Given the description of an element on the screen output the (x, y) to click on. 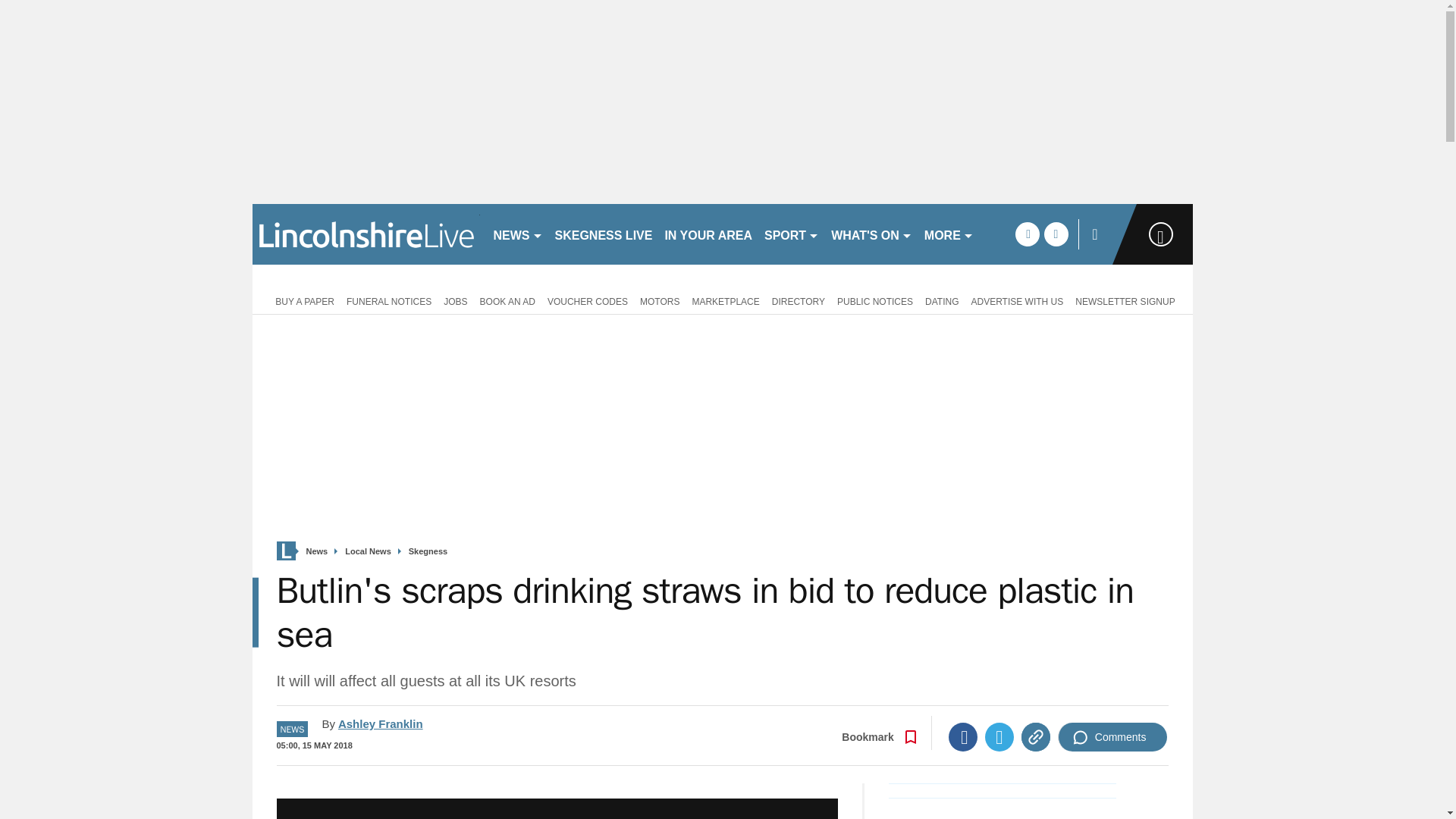
lincolnshirelive (365, 233)
NEWS (517, 233)
Twitter (999, 736)
BUY A PAPER (301, 300)
Facebook (962, 736)
SKEGNESS LIVE (603, 233)
facebook (1026, 233)
IN YOUR AREA (708, 233)
Comments (1112, 736)
WHAT'S ON (871, 233)
twitter (1055, 233)
SPORT (791, 233)
MORE (948, 233)
